Given the description of an element on the screen output the (x, y) to click on. 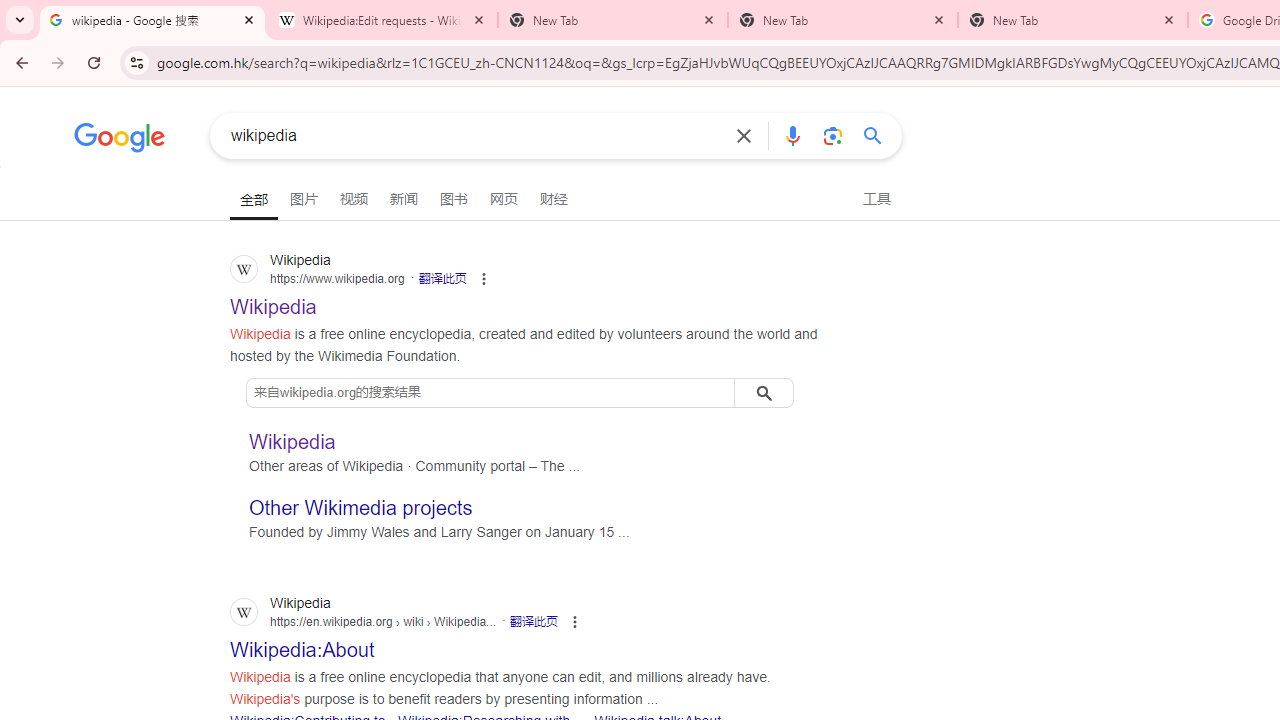
Other Wikimedia projects (361, 507)
